Given the description of an element on the screen output the (x, y) to click on. 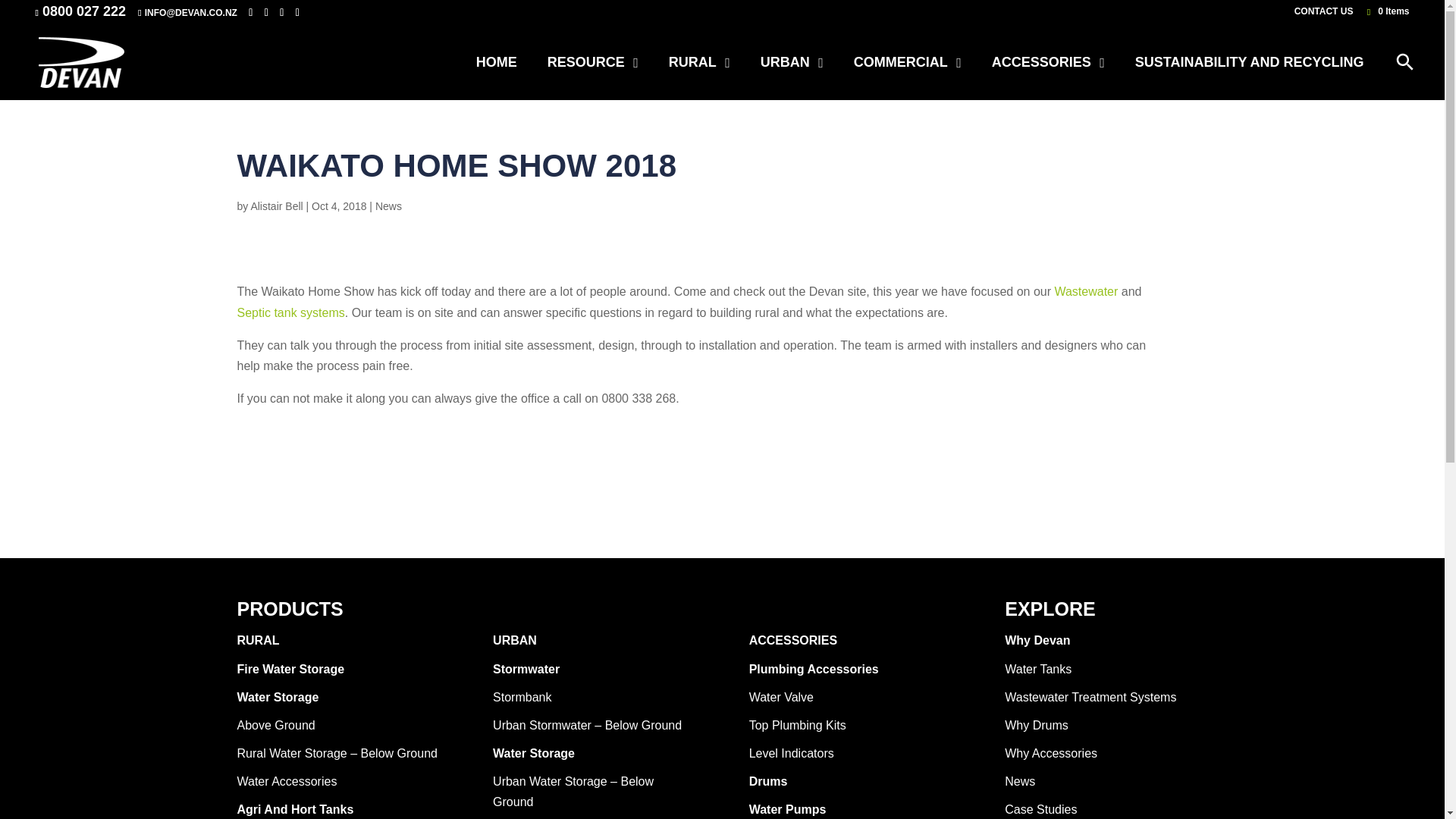
RURAL (699, 62)
0800 027 222 (83, 11)
RESOURCE (592, 62)
0 Items (1386, 10)
HOME (496, 62)
CONTACT US (1324, 14)
Posts by Alistair Bell (276, 205)
